Given the description of an element on the screen output the (x, y) to click on. 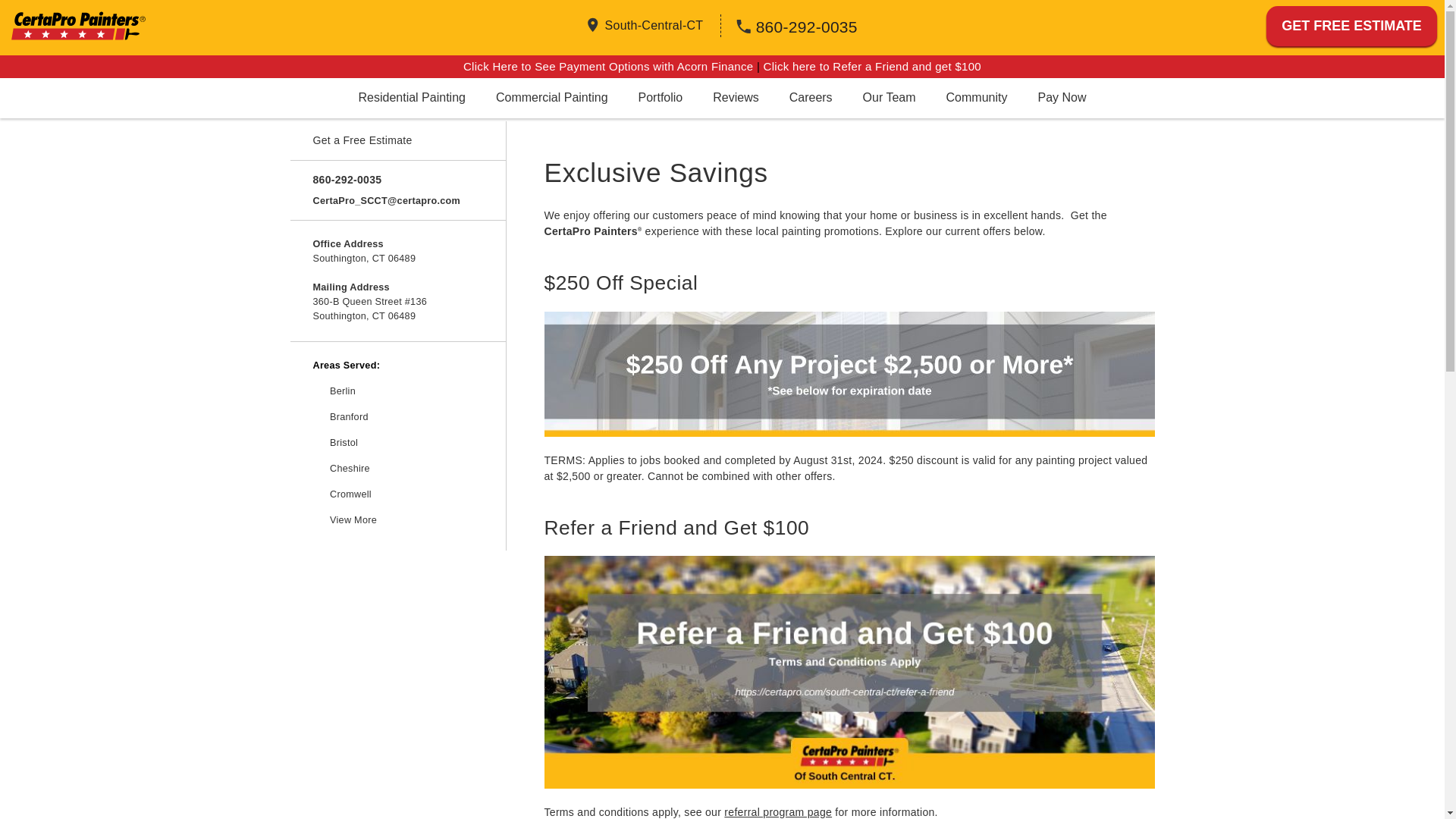
Click Here to See Payment Options with Acorn Finance (610, 65)
GET FREE ESTIMATE (1351, 25)
Reviews (735, 96)
Commercial Painting (551, 96)
Residential Painting (411, 96)
South-Central-CT (654, 24)
Portfolio (660, 96)
